Given the description of an element on the screen output the (x, y) to click on. 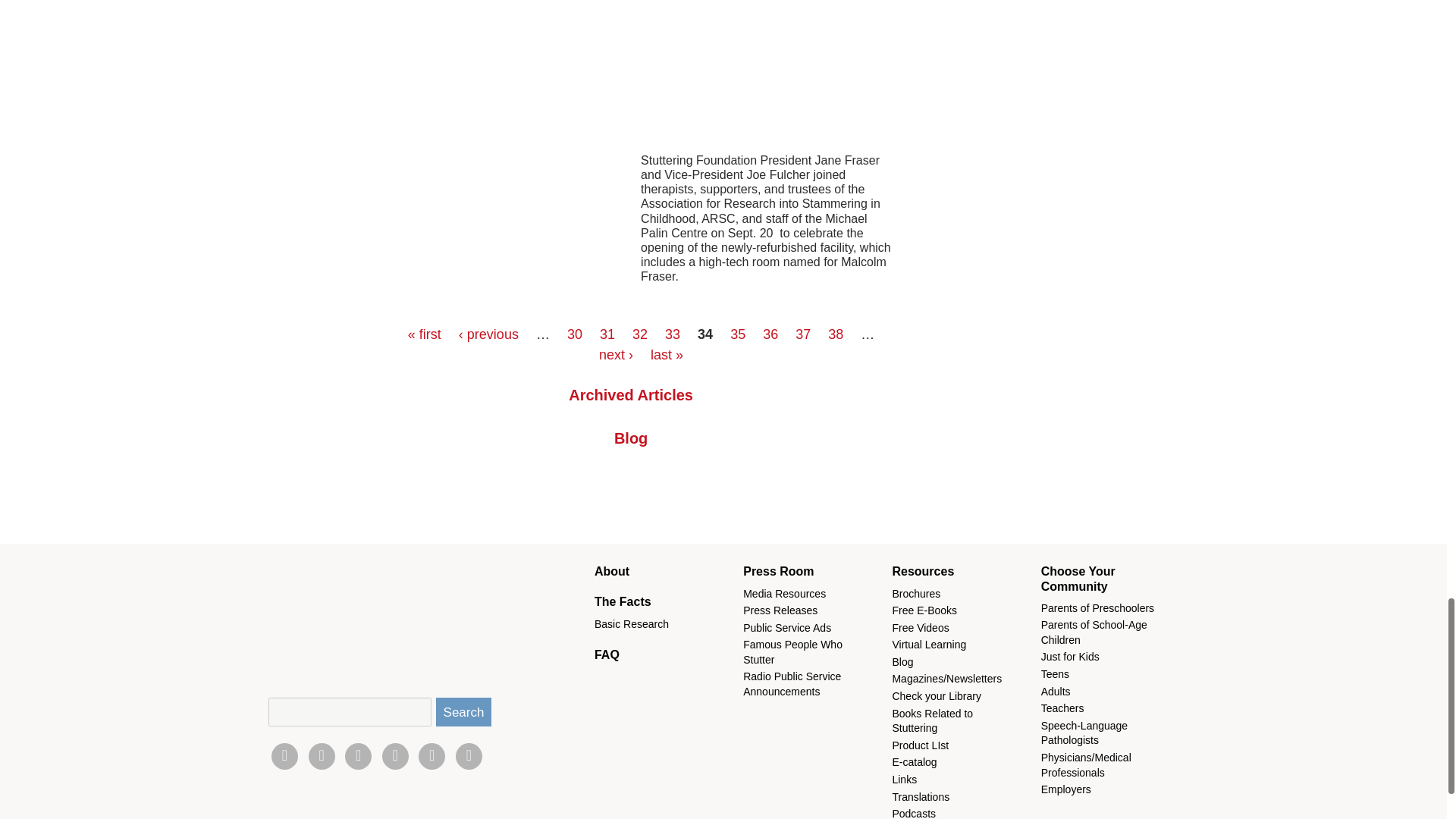
Search (463, 711)
Go to first page (424, 334)
Go to previous page (488, 334)
